Given the description of an element on the screen output the (x, y) to click on. 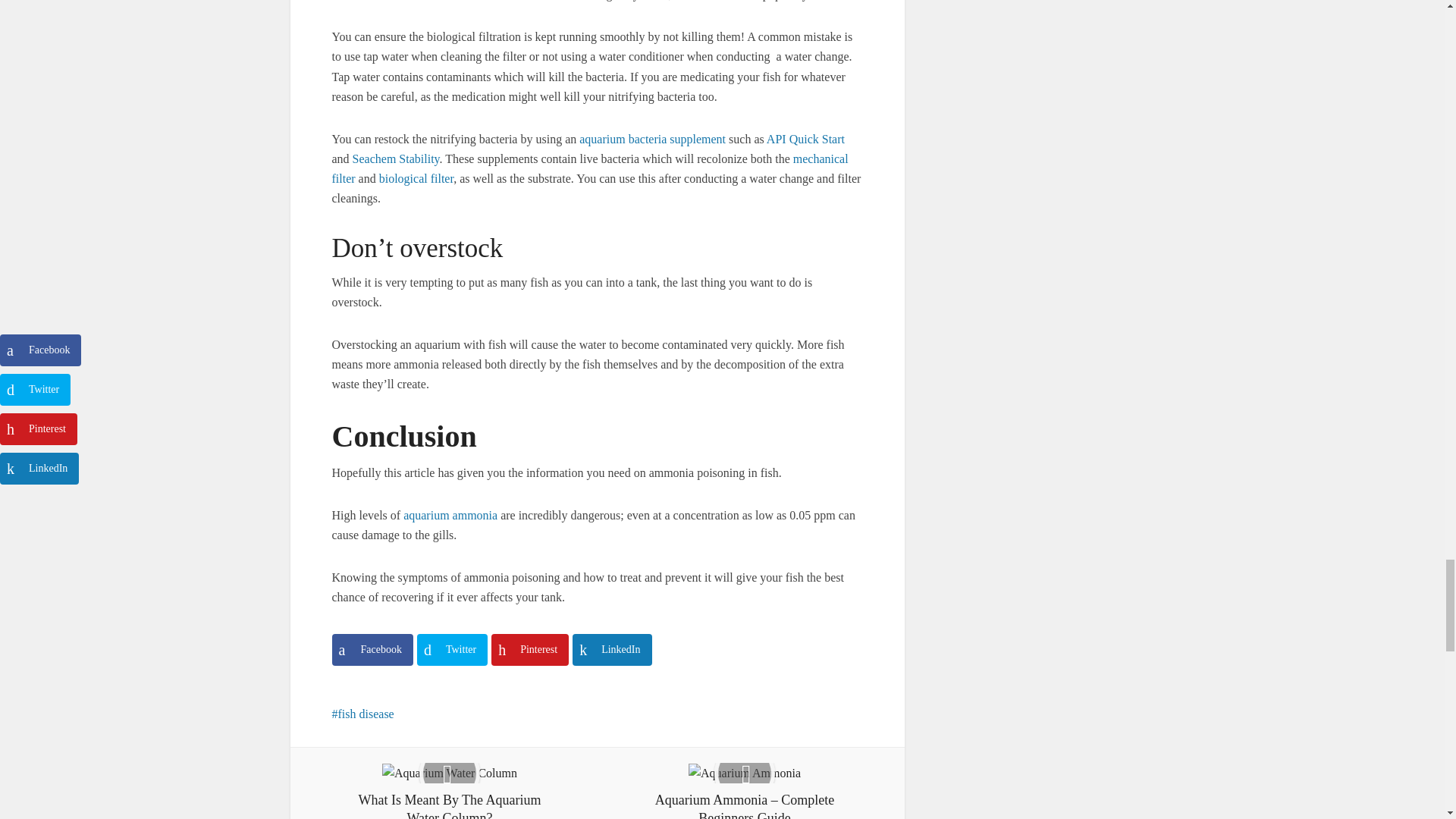
Share on Facebook (372, 649)
Share on Pinterest (530, 649)
Share on LinkedIn (611, 649)
Share on Twitter (451, 649)
